Given the description of an element on the screen output the (x, y) to click on. 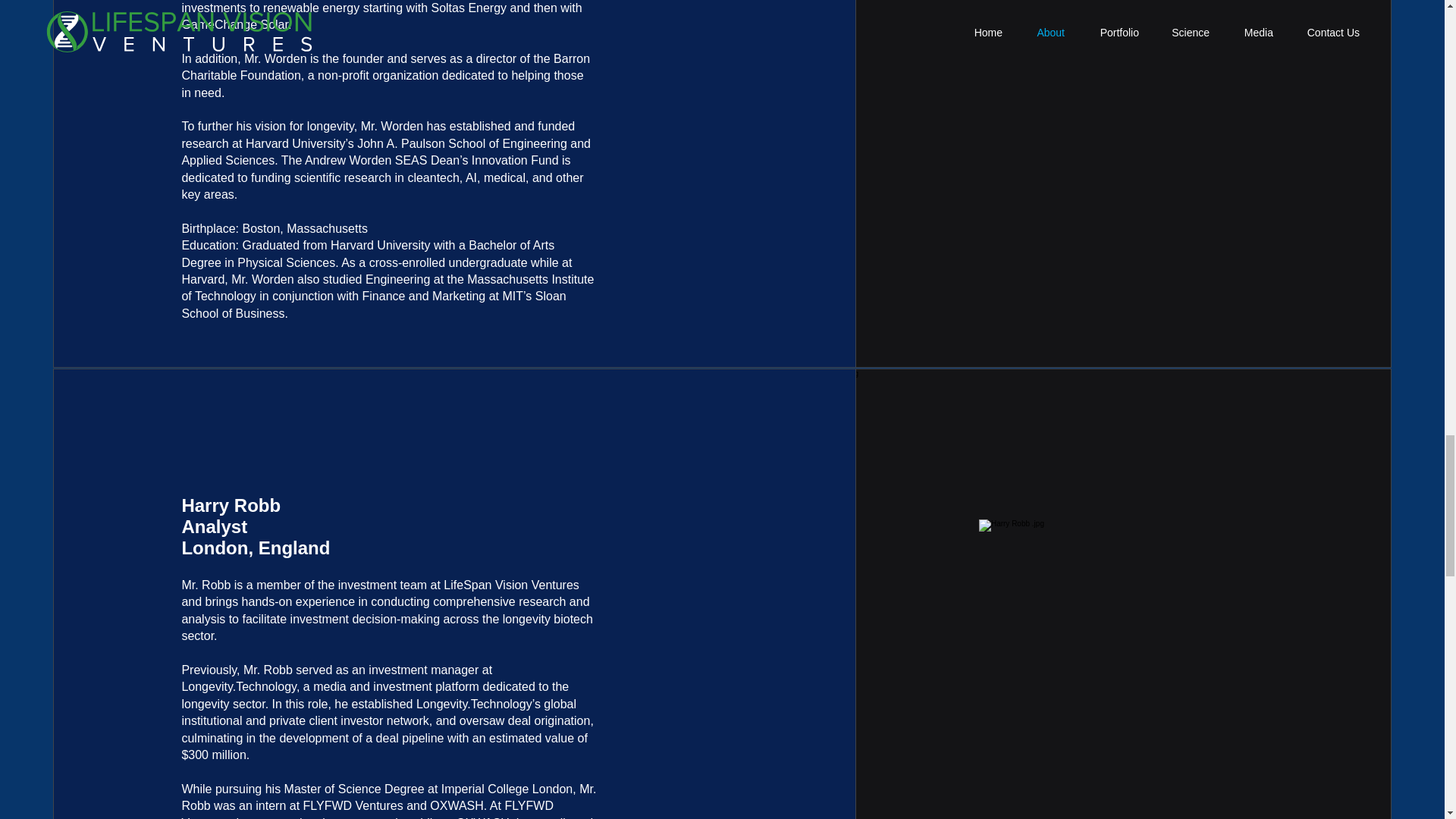
Harry Robb.jpg (1122, 669)
